Given the description of an element on the screen output the (x, y) to click on. 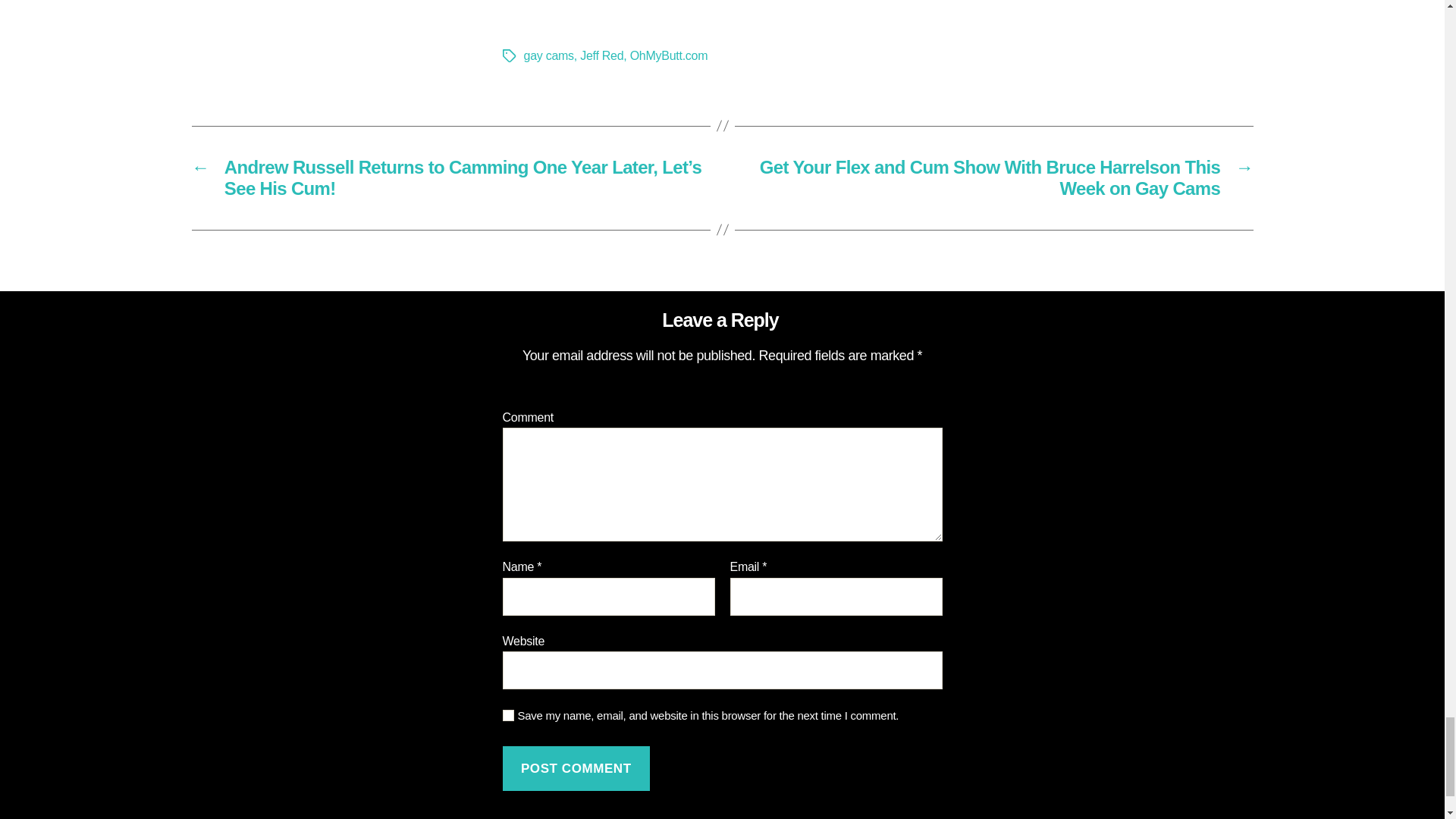
Post Comment (575, 768)
yes (507, 715)
Post Comment (575, 768)
OhMyButt.com (668, 54)
gay cams (547, 54)
Jeff Red (601, 54)
